Given the description of an element on the screen output the (x, y) to click on. 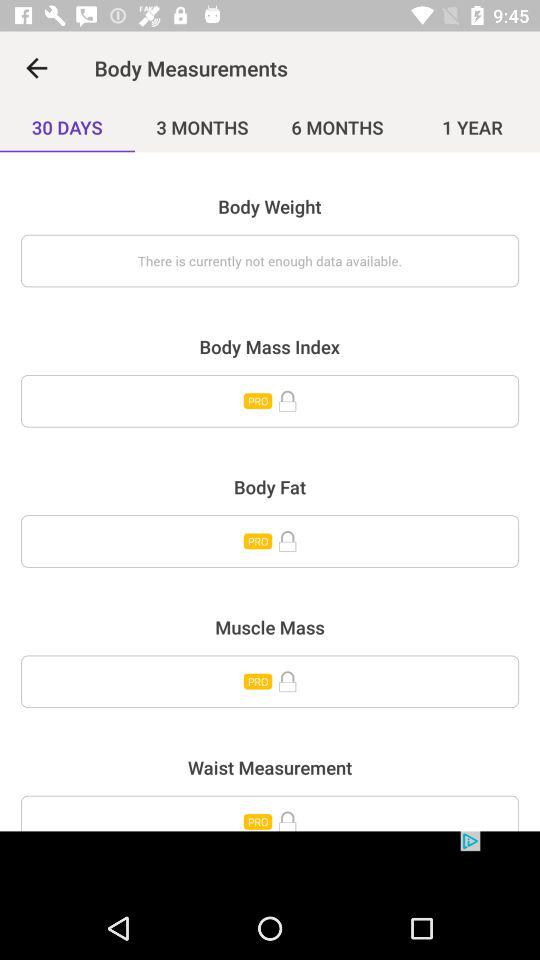
lock button (269, 541)
